Given the description of an element on the screen output the (x, y) to click on. 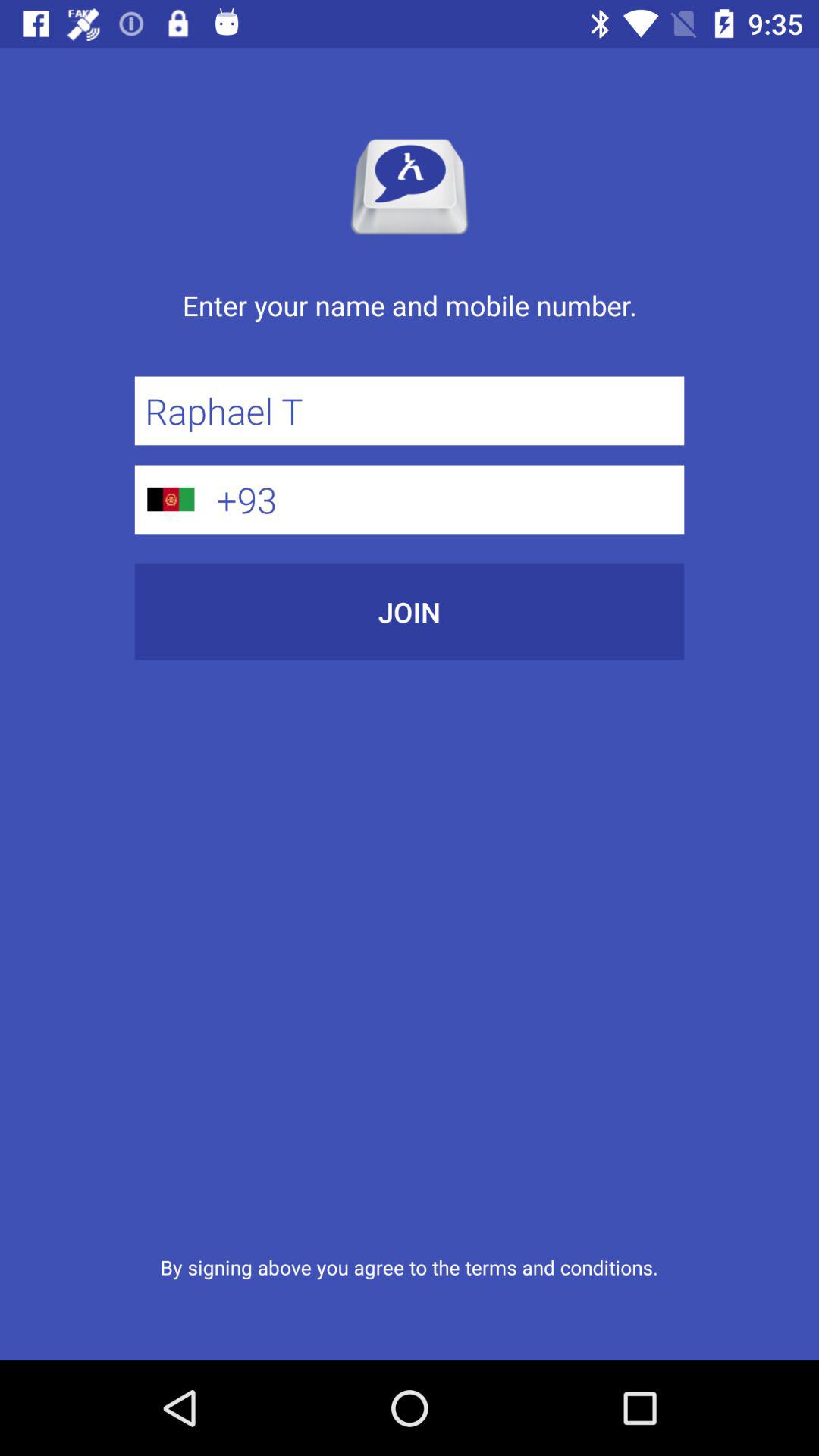
flip to join (409, 611)
